Given the description of an element on the screen output the (x, y) to click on. 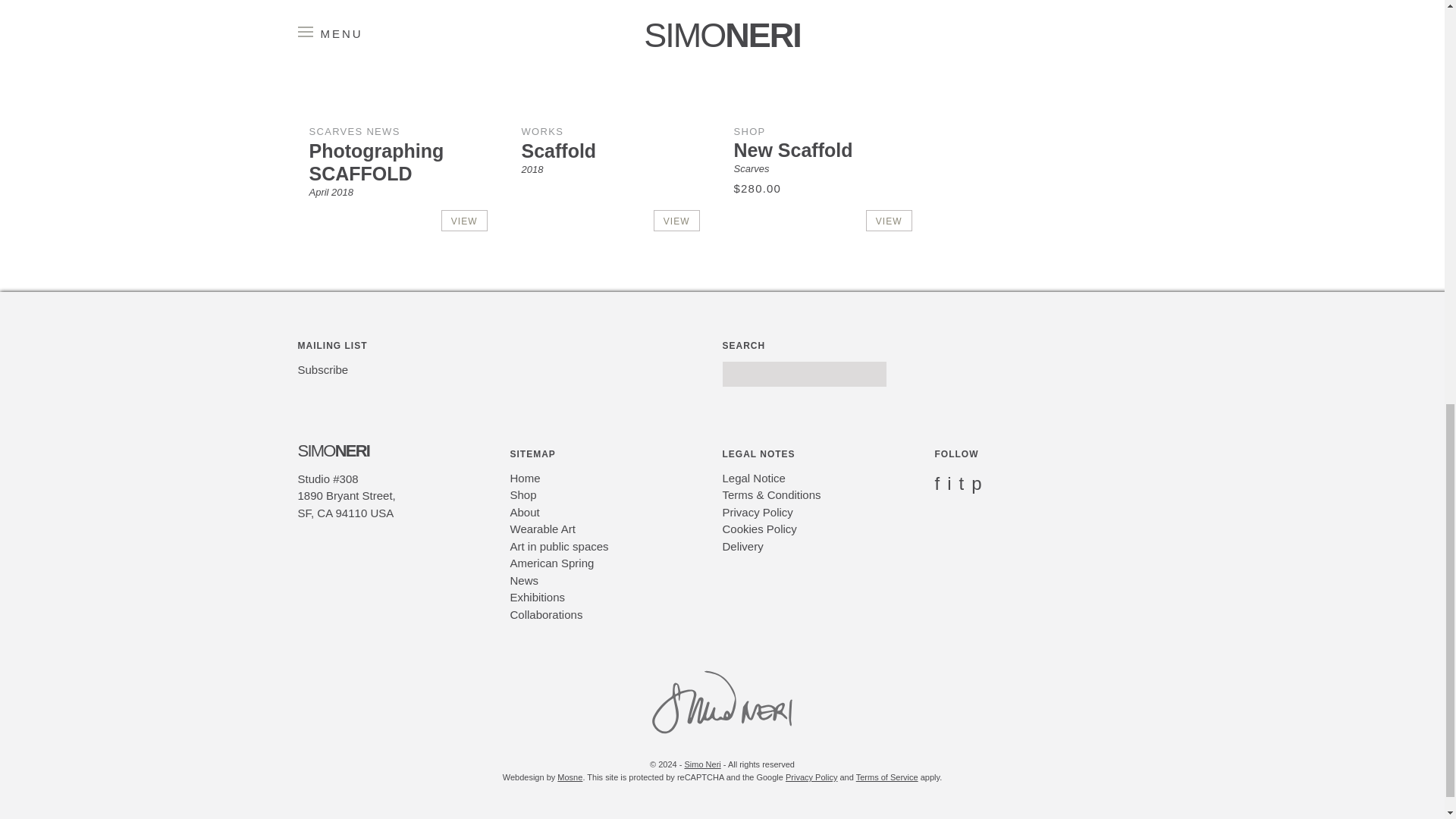
SCARVES (335, 131)
About (523, 512)
Wearable Art (542, 528)
Collaborations (545, 614)
Scaffold (558, 150)
Scarves (751, 168)
Shop (522, 494)
Art in public spaces (558, 545)
Exhibitions (536, 596)
News (523, 580)
